Given the description of an element on the screen output the (x, y) to click on. 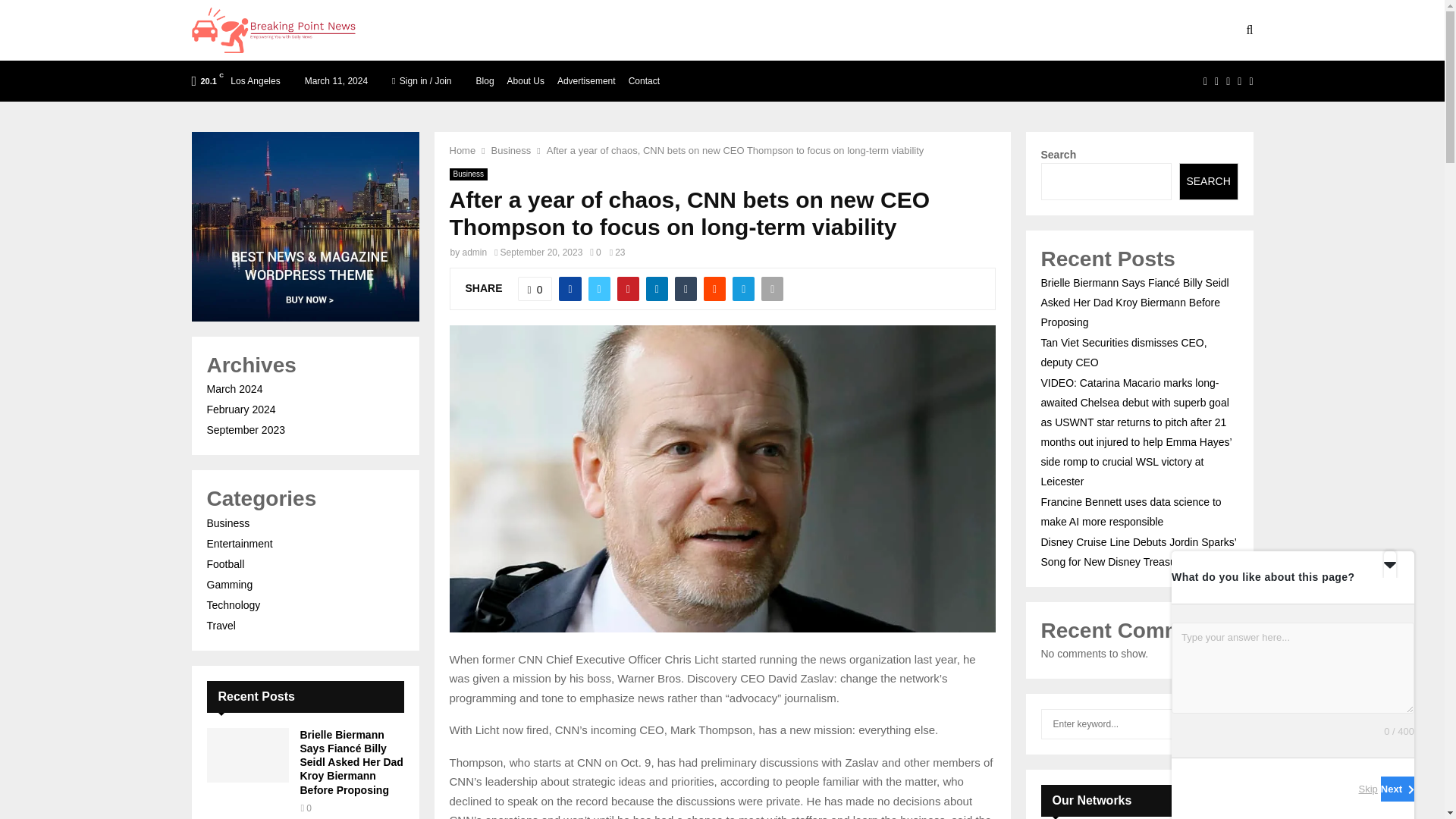
TRAVEL (572, 30)
HOME (401, 30)
TECHNOLOGY (482, 30)
